Given the description of an element on the screen output the (x, y) to click on. 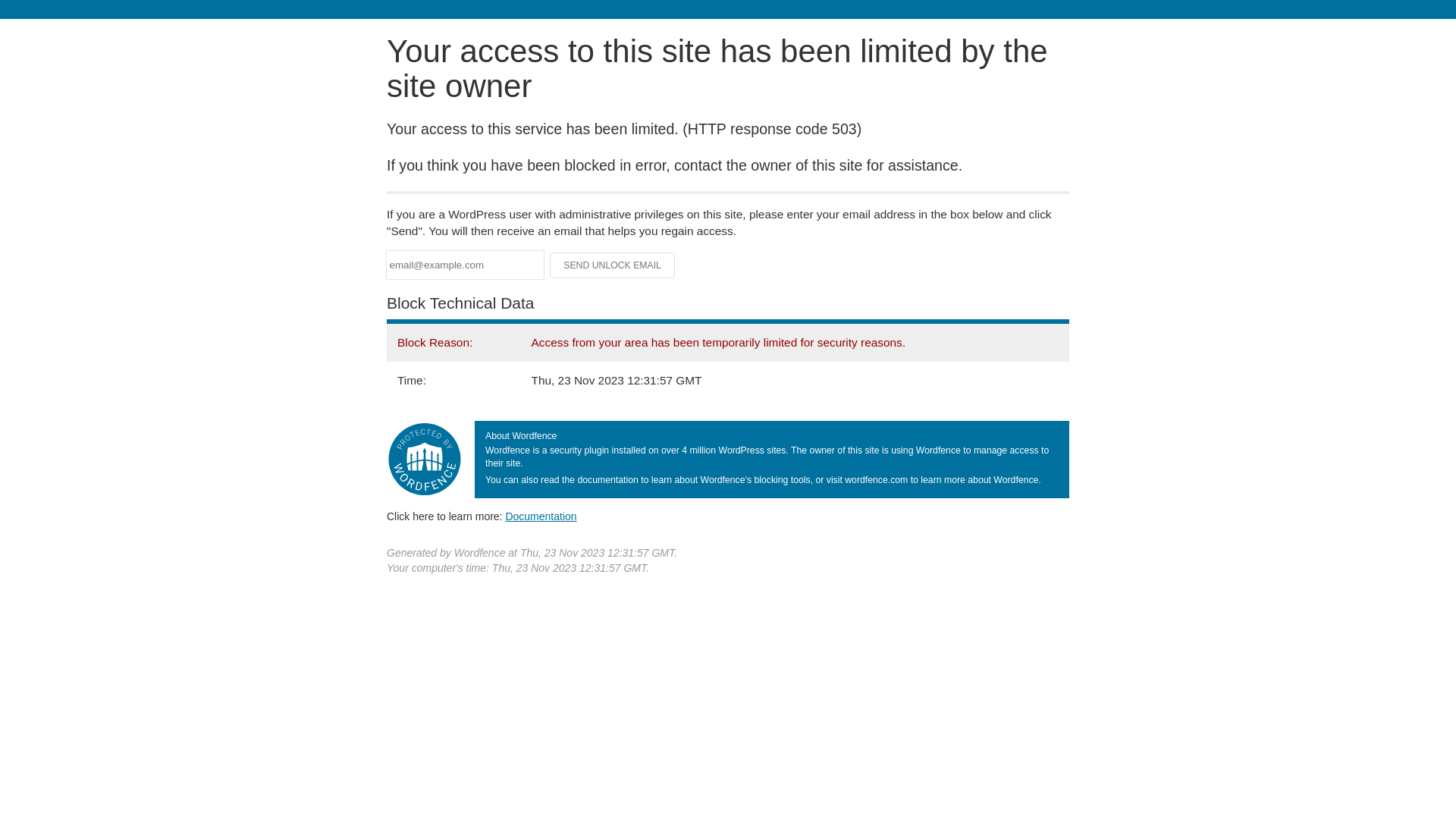
Send Unlock Email Element type: text (612, 265)
Documentation Element type: text (540, 516)
